Given the description of an element on the screen output the (x, y) to click on. 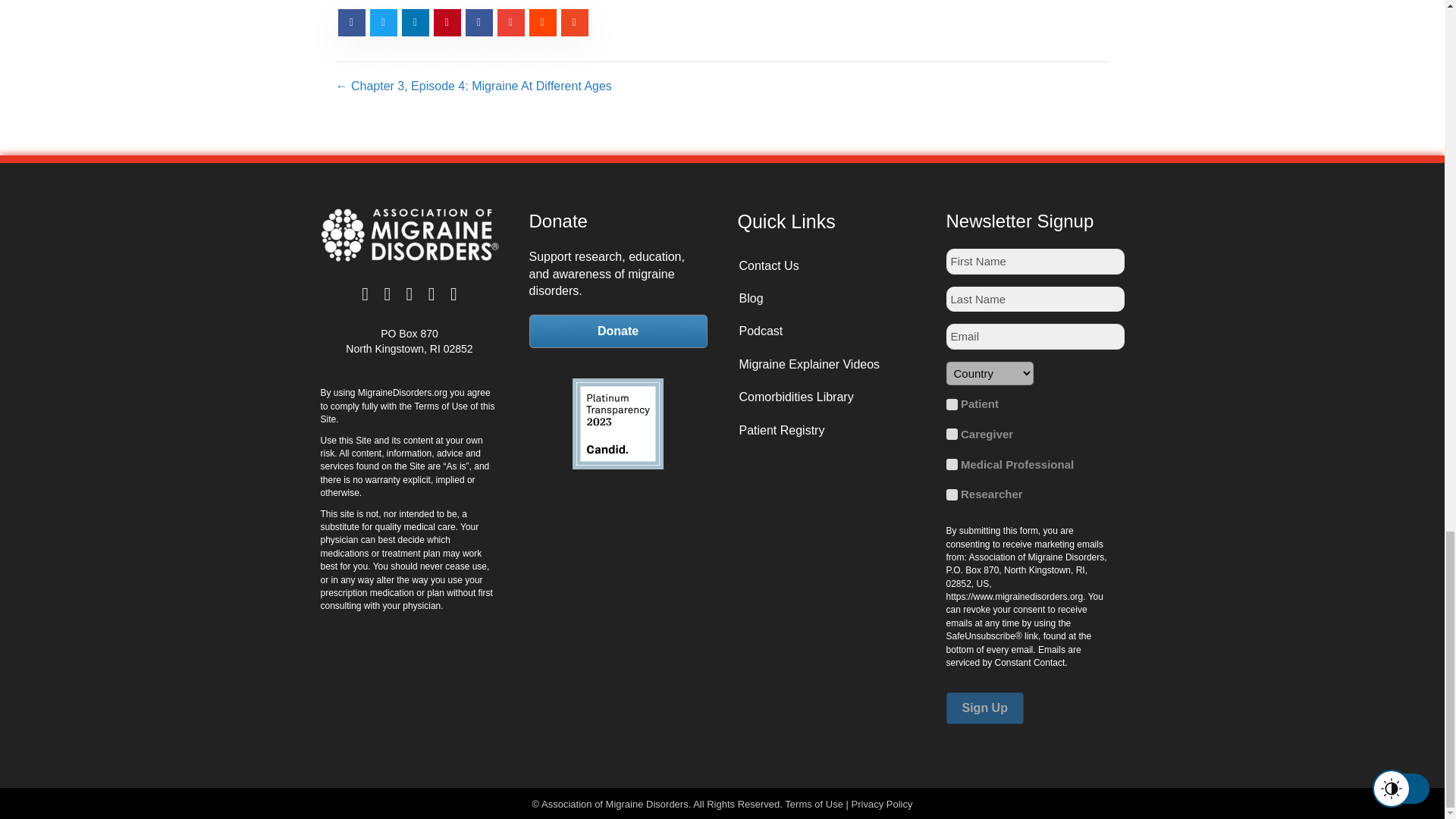
Patient (952, 404)
Medical Professional (952, 464)
Caregiver (952, 433)
Researcher (952, 494)
Association of Migraine Disorders (408, 235)
candid-platinum-transparency-2023 (617, 423)
Sign Up (984, 707)
